Given the description of an element on the screen output the (x, y) to click on. 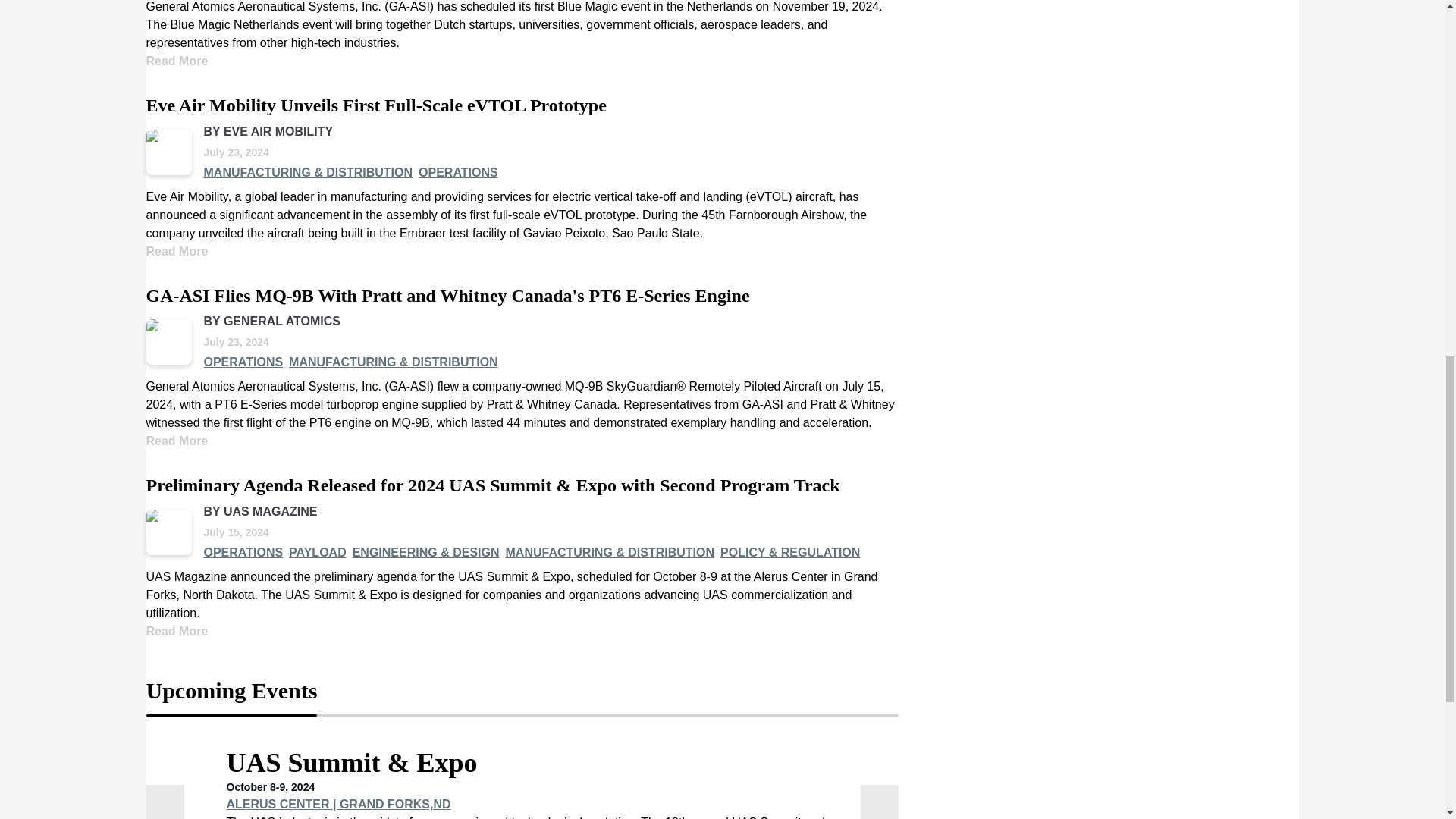
Read More (176, 60)
BY GENERAL ATOMICS (271, 320)
BY EVE AIR MOBILITY (268, 131)
Read More (176, 250)
OPERATIONS (242, 361)
OPERATIONS (458, 172)
Eve Air Mobility Unveils First Full-Scale eVTOL Prototype (375, 106)
